Given the description of an element on the screen output the (x, y) to click on. 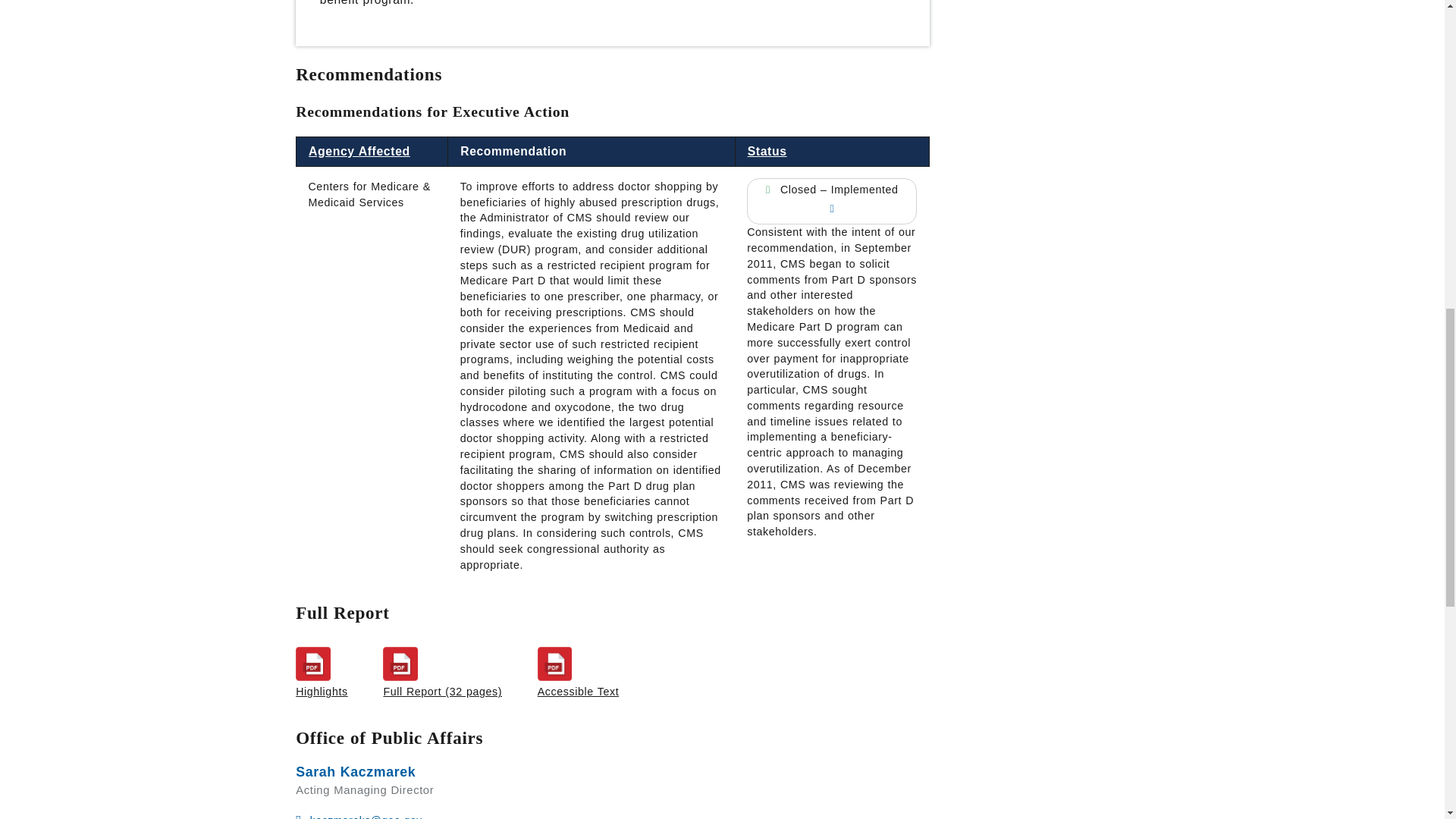
Accessible Text (577, 671)
Agency Affected (359, 151)
sort by Agency Affected (359, 151)
Highlights (321, 671)
sort by Status (767, 151)
Sarah Kaczmarek (354, 771)
Status (767, 151)
